Given the description of an element on the screen output the (x, y) to click on. 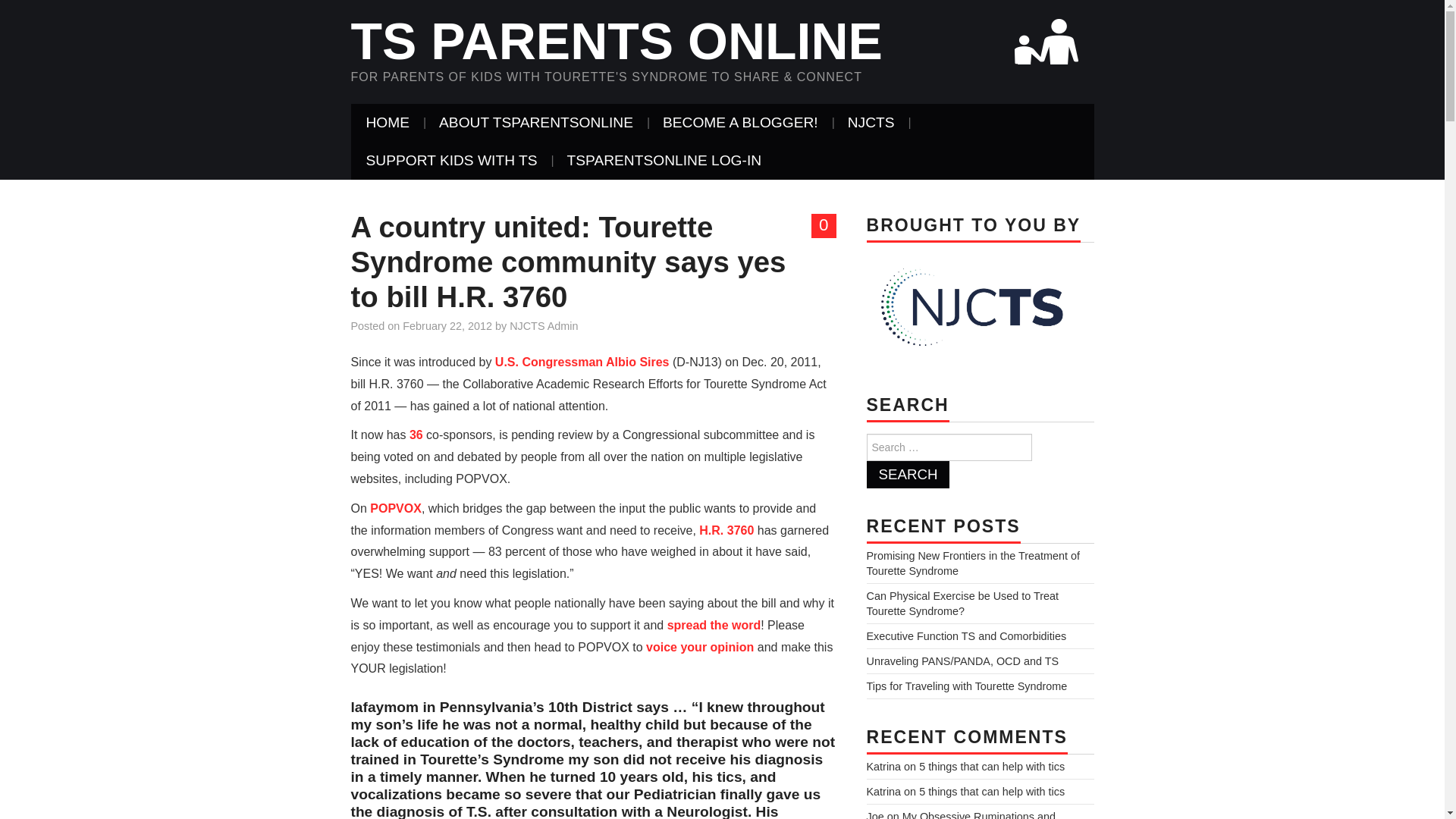
spread the word (713, 625)
SUPPORT KIDS WITH TS (450, 160)
BECOME A BLOGGER! (739, 122)
Search (907, 474)
Search (907, 474)
POPVOX (395, 508)
H.R. 3760 (726, 530)
TS Parents Online (616, 40)
9:56 am (447, 326)
View all posts by NJCTS Admin (543, 326)
